Given the description of an element on the screen output the (x, y) to click on. 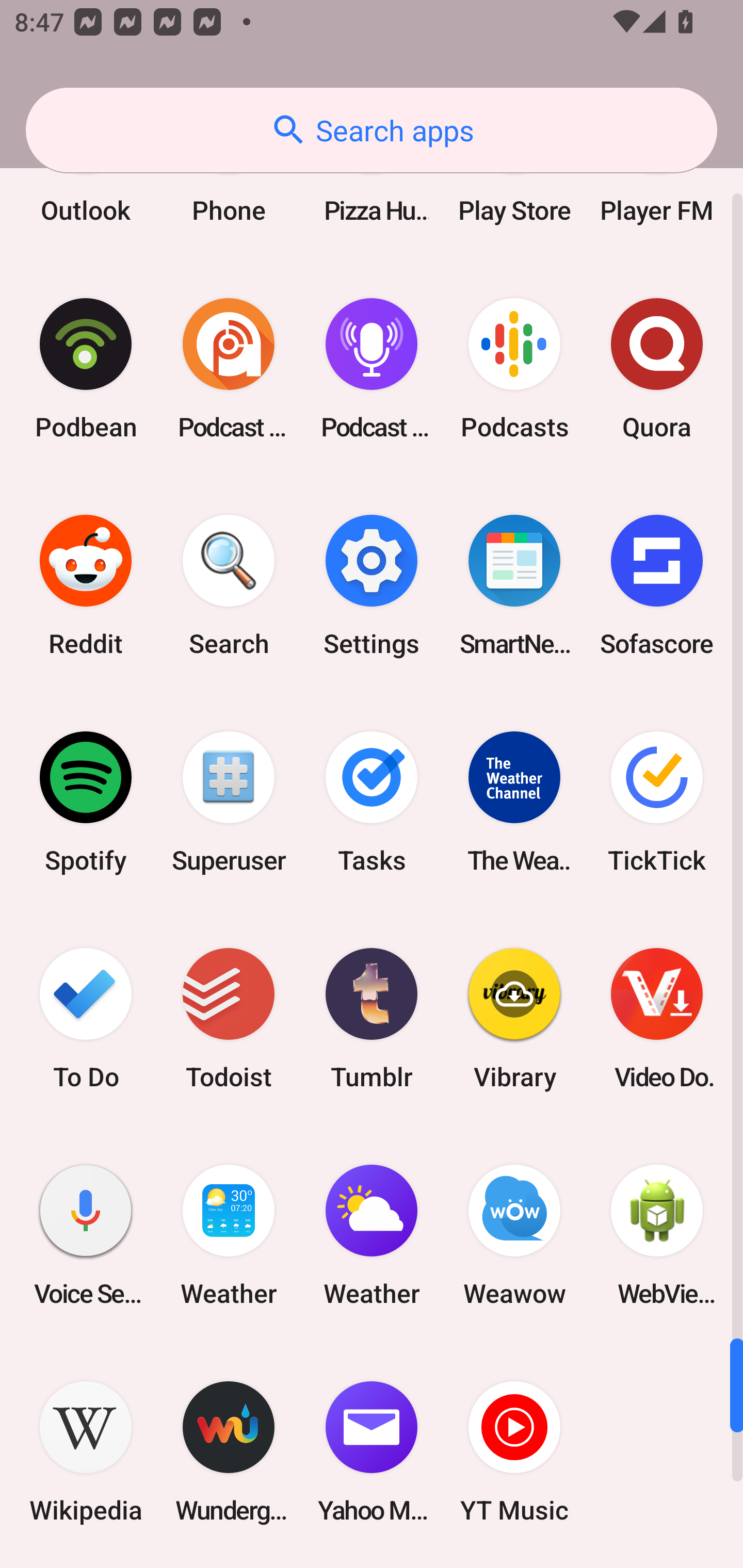
  Search apps (371, 130)
Outlook (85, 181)
Phone (228, 181)
Pizza Hut HK & Macau (371, 181)
Play Store (514, 181)
Player FM (656, 181)
Podbean (85, 368)
Podcast Addict (228, 368)
Podcast Player (371, 368)
Podcasts (514, 368)
Quora (656, 368)
Reddit (85, 584)
Search (228, 584)
Settings (371, 584)
SmartNews (514, 584)
Sofascore (656, 584)
Spotify (85, 802)
Superuser (228, 802)
Tasks (371, 802)
The Weather Channel (514, 802)
TickTick (656, 802)
To Do (85, 1019)
Todoist (228, 1019)
Tumblr (371, 1019)
Vibrary (514, 1019)
Video Downloader & Ace Player (656, 1019)
Voice Search (85, 1235)
Weather (228, 1235)
Weather (371, 1235)
Weawow (514, 1235)
WebView Browser Tester (656, 1235)
Wikipedia (85, 1451)
Wunderground (228, 1451)
Yahoo Mail (371, 1451)
YT Music (514, 1451)
